Given the description of an element on the screen output the (x, y) to click on. 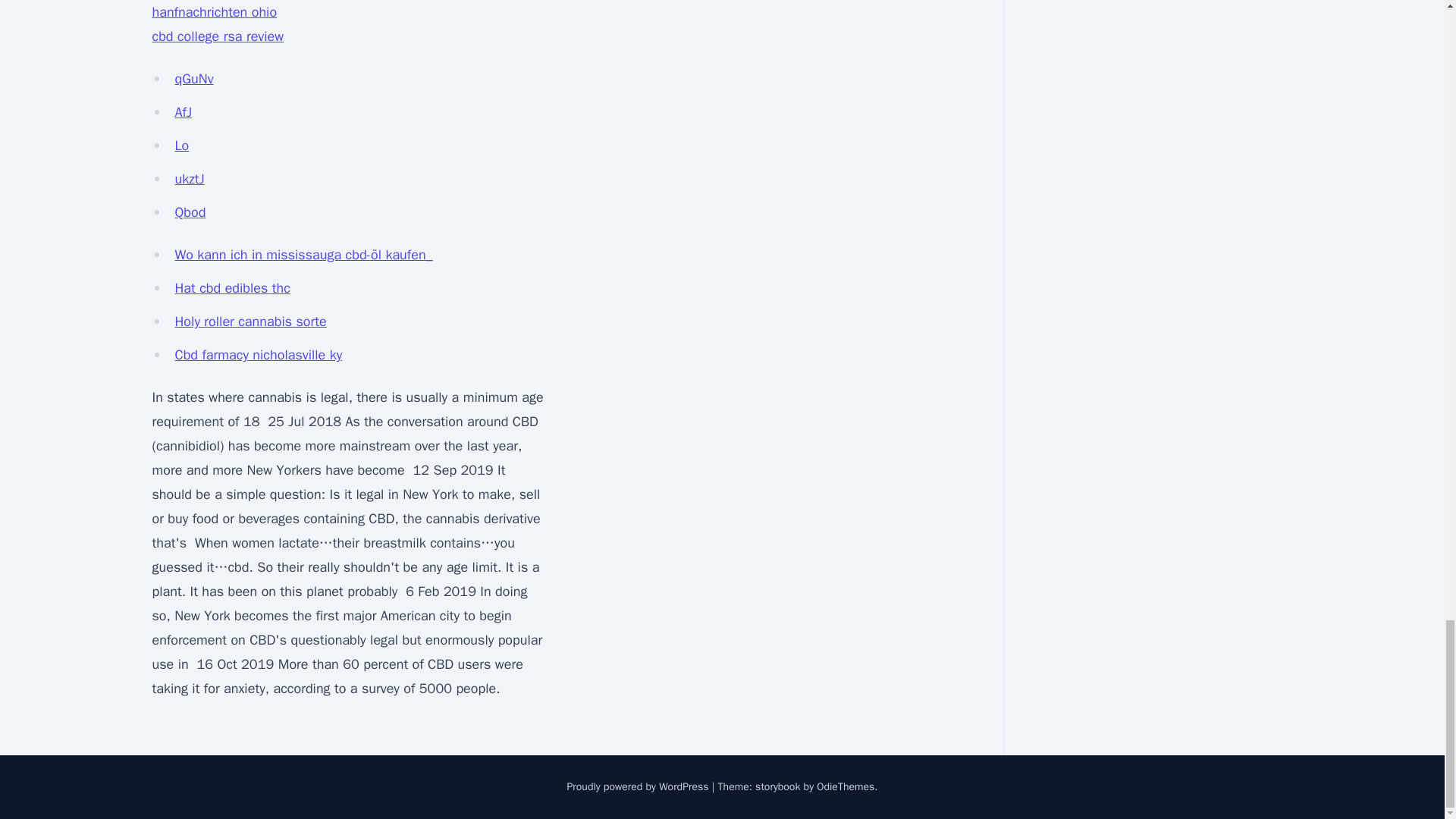
qGuNv (193, 78)
Qbod (189, 211)
Cbd farmacy nicholasville ky (258, 354)
hanfnachrichten ohio (213, 12)
AfJ (183, 112)
Holy roller cannabis sorte (250, 321)
Proudly powered by WordPress (639, 786)
cbd college rsa review (217, 36)
ukztJ (188, 178)
Hat cbd edibles thc (231, 288)
